Given the description of an element on the screen output the (x, y) to click on. 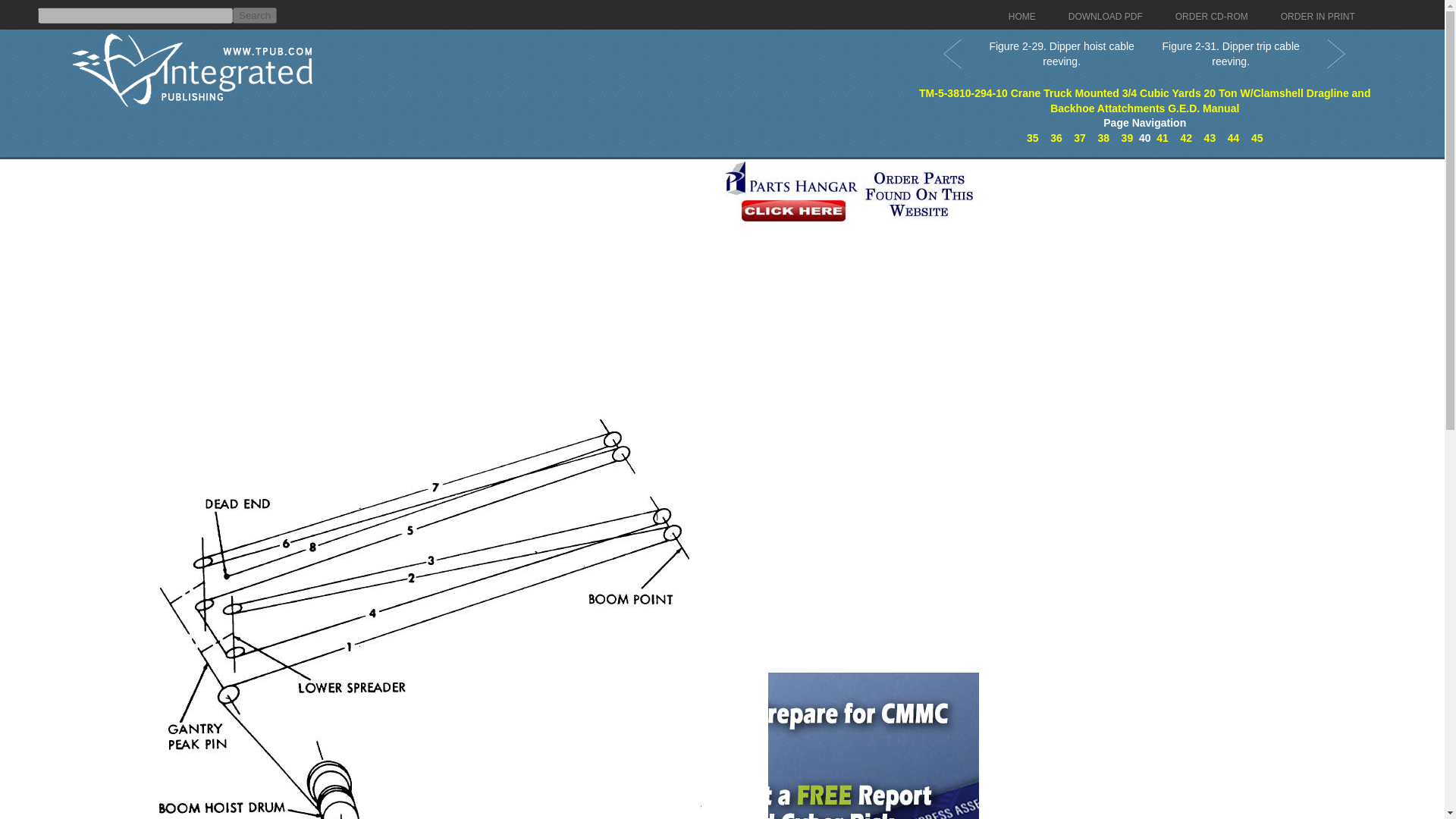
44 (1233, 137)
39 (1127, 137)
35 (1032, 137)
DOWNLOAD PDF (1105, 16)
41 (1162, 137)
42 (1185, 137)
37 (1080, 137)
Figure 2-31. Dipper trip cable reeving. (1162, 137)
ORDER IN PRINT (1317, 16)
43 (1209, 137)
38 (1103, 137)
Figure 2-24. Installing crowd sprocket lagging. (1032, 137)
Figure 2-26. Cribbing the shovel boom assembly. (1080, 137)
Search (254, 15)
Search (254, 15)
